Given the description of an element on the screen output the (x, y) to click on. 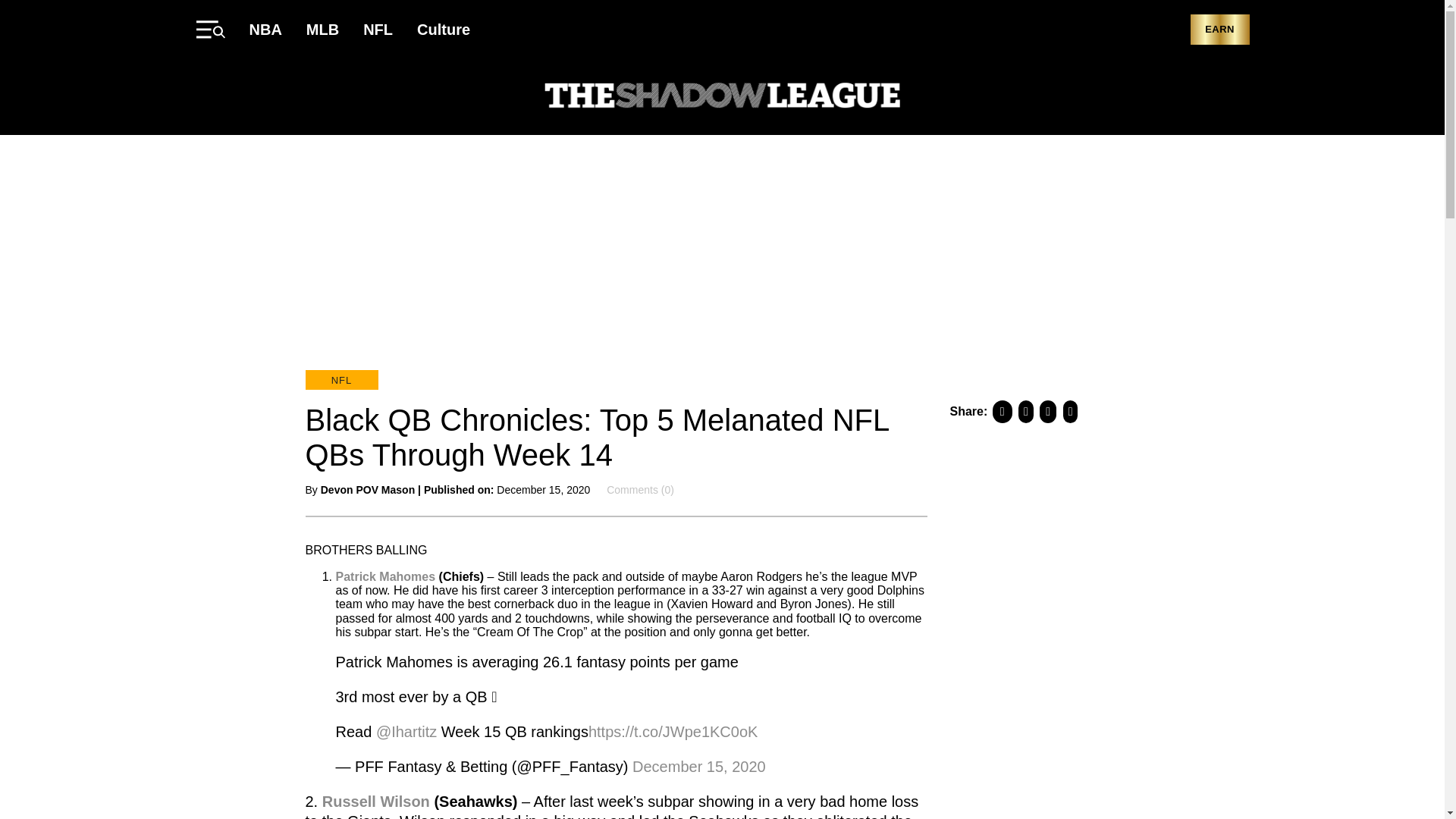
Devon POV Mason (367, 490)
Patrick Mahomes (384, 576)
Culture (443, 29)
EARN (1220, 29)
NFL (340, 379)
NFL (377, 29)
The Shadow League (721, 96)
MLB (322, 29)
NBA (264, 29)
December 15, 2020 (698, 766)
